Given the description of an element on the screen output the (x, y) to click on. 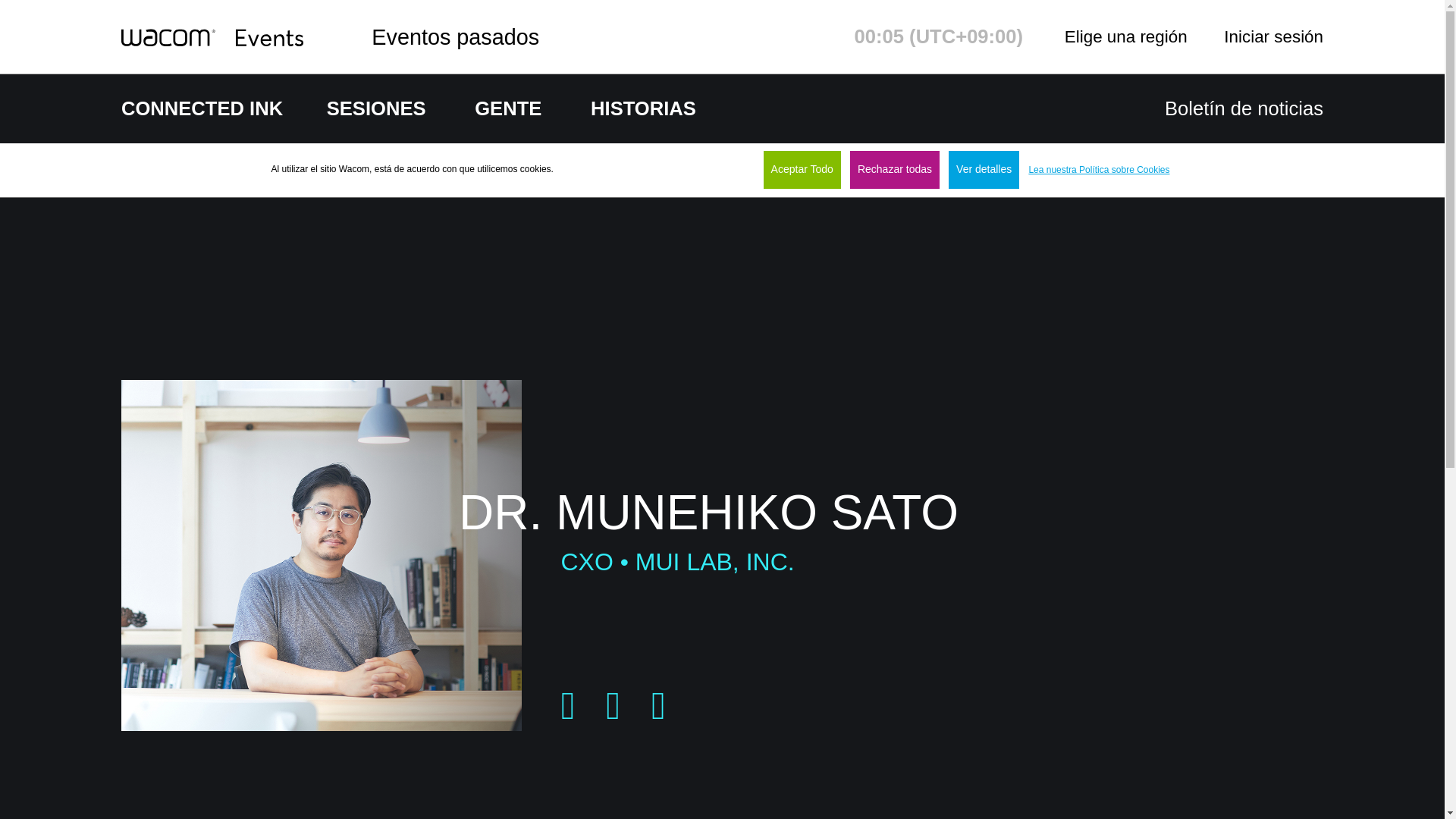
Rechazar todas (894, 169)
Ver detalles (984, 169)
HISTORIAS (643, 107)
Aceptar Todo (801, 169)
SESIONES (376, 107)
GENTE (507, 107)
Eventos pasados (454, 37)
CONNECTED INK (206, 108)
